Given the description of an element on the screen output the (x, y) to click on. 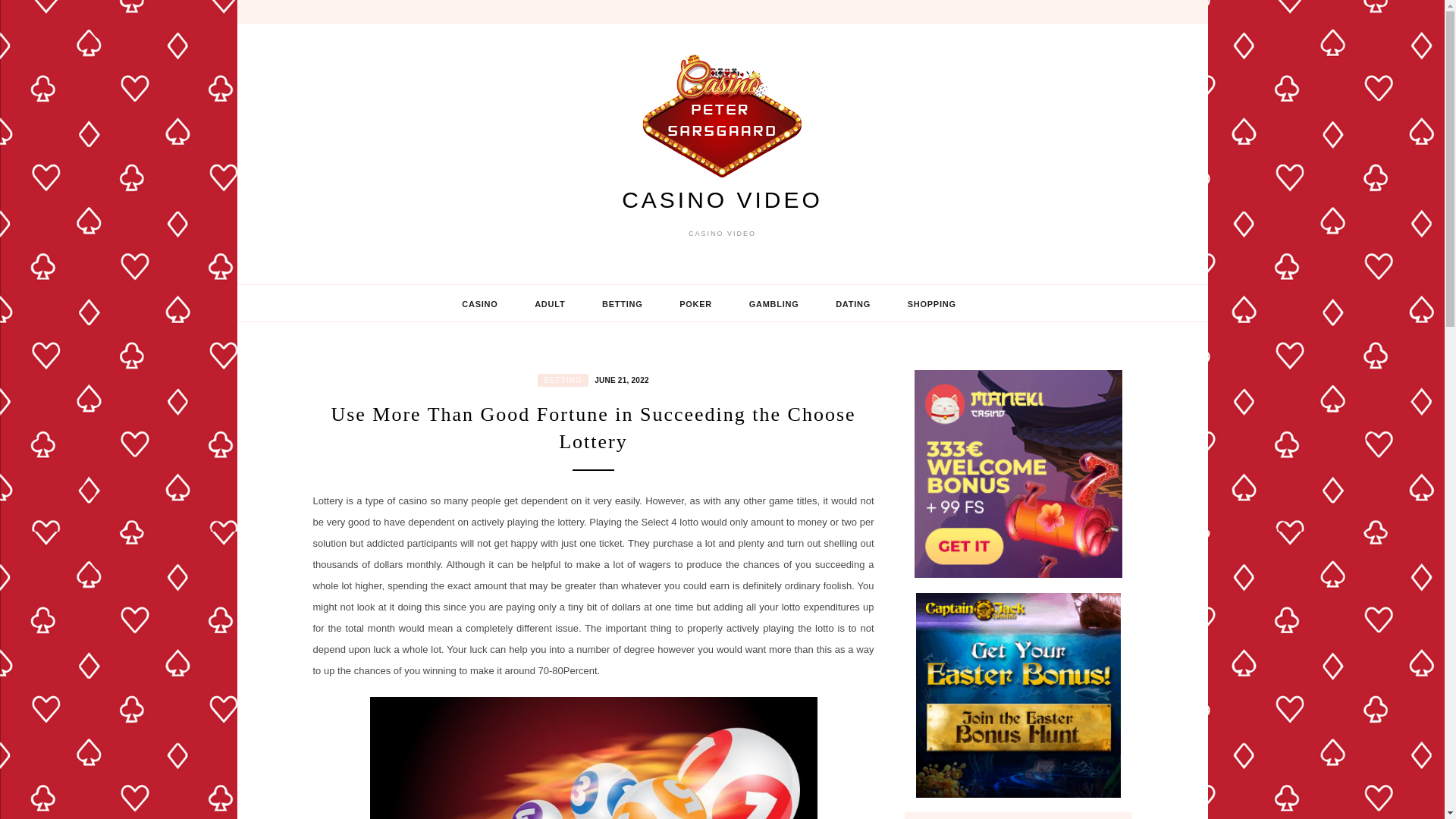
BETTING (622, 303)
DATING (853, 303)
SHOPPING (931, 303)
GAMBLING (774, 303)
JUNE 21, 2022 (620, 378)
POKER (695, 303)
CASINO (479, 303)
CASINO VIDEO (721, 199)
ADULT (550, 303)
BETTING (562, 379)
